Given the description of an element on the screen output the (x, y) to click on. 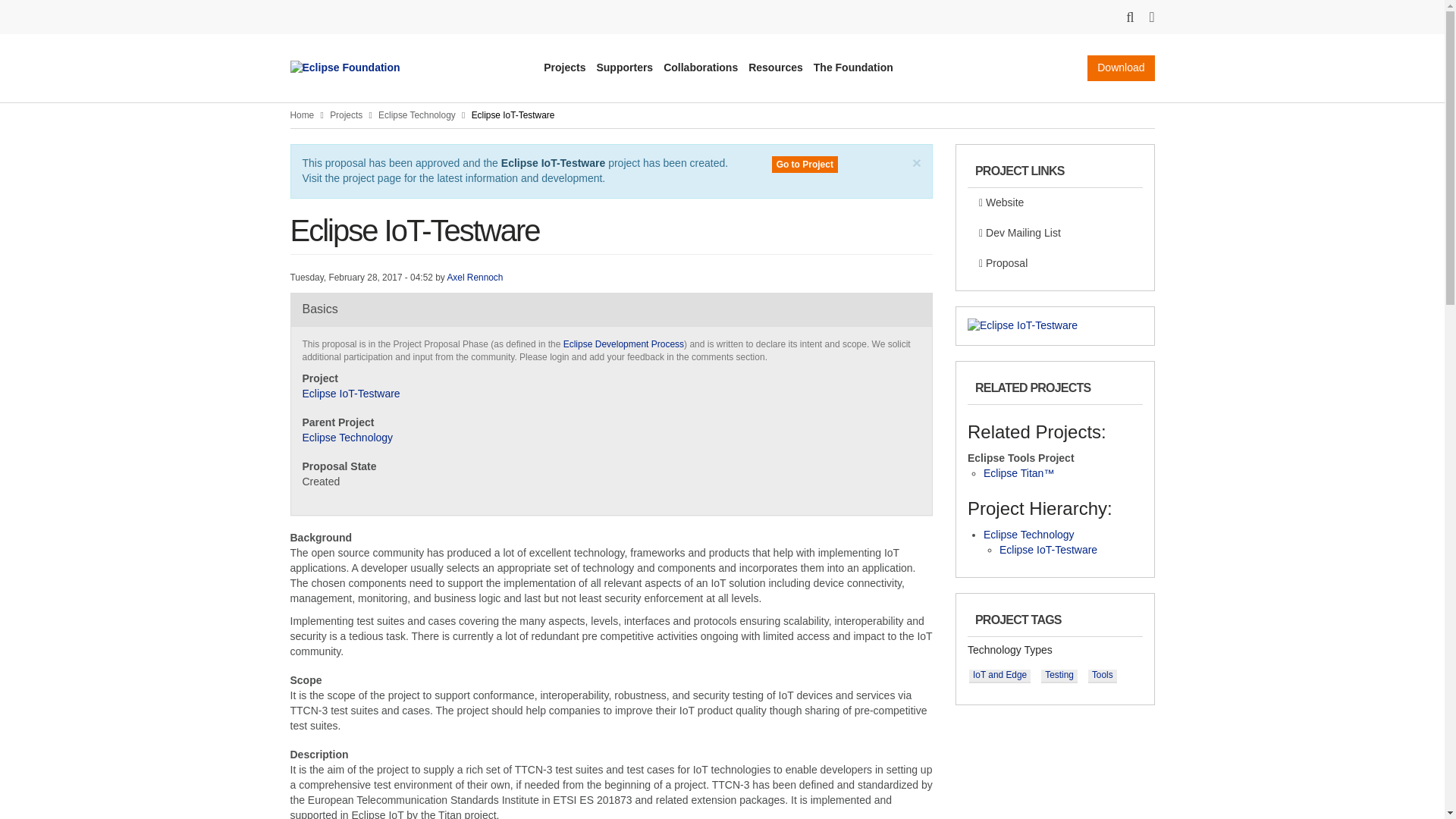
View user profile. (474, 276)
Resources (775, 67)
Collaborations (700, 67)
Download (1120, 68)
Supporters (623, 67)
Projects (563, 67)
The Foundation (853, 67)
